Given the description of an element on the screen output the (x, y) to click on. 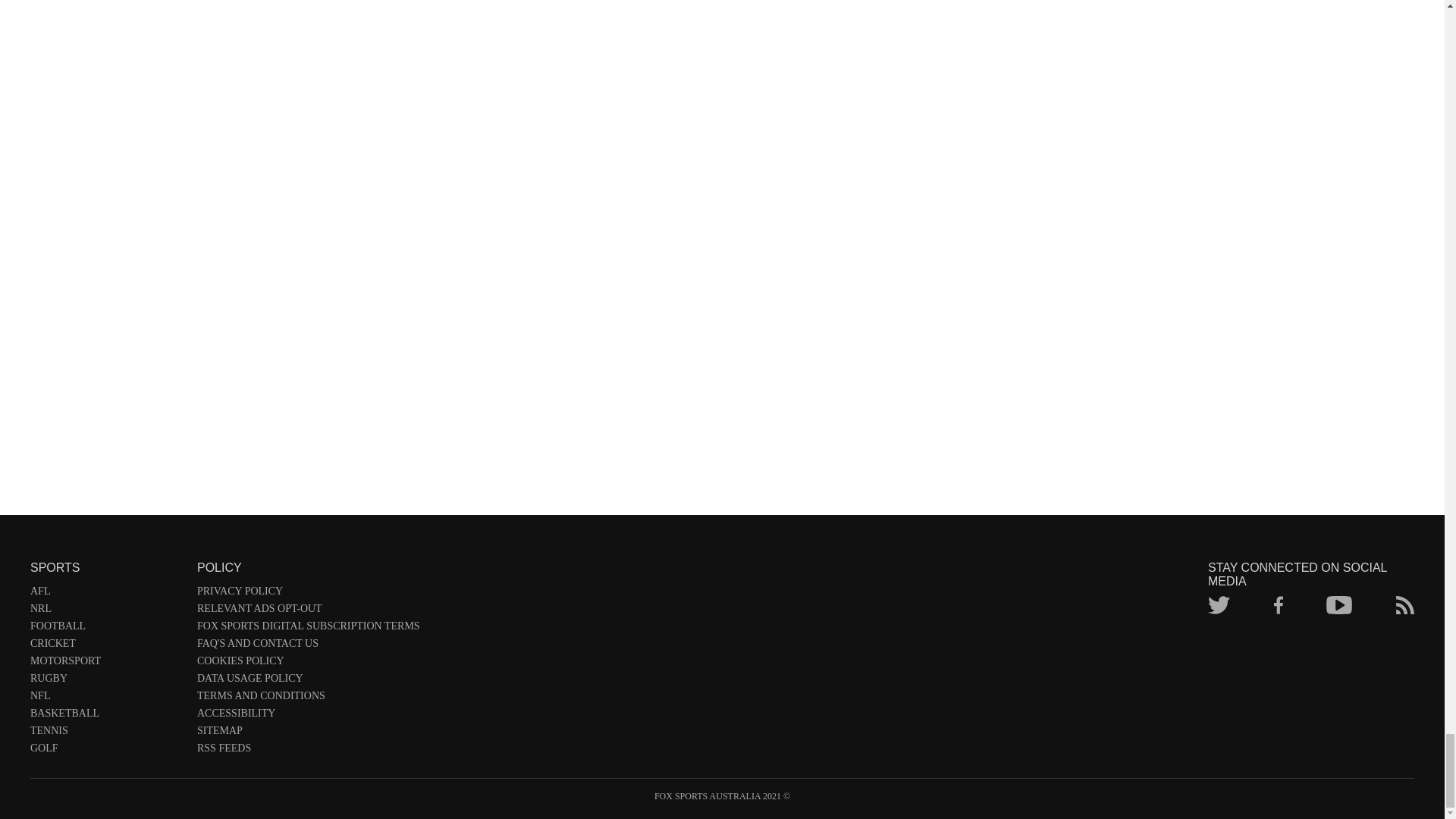
FAQ'S AND CONTACT US (308, 646)
FOOTBALL (106, 628)
ACCESSIBILITY (308, 715)
AFL (106, 593)
BASKETBALL (106, 715)
CRICKET (106, 646)
PRIVACY POLICY (308, 593)
SITEMAP (308, 733)
NRL (106, 610)
RELEVANT ADS OPT-OUT (308, 610)
